Given the description of an element on the screen output the (x, y) to click on. 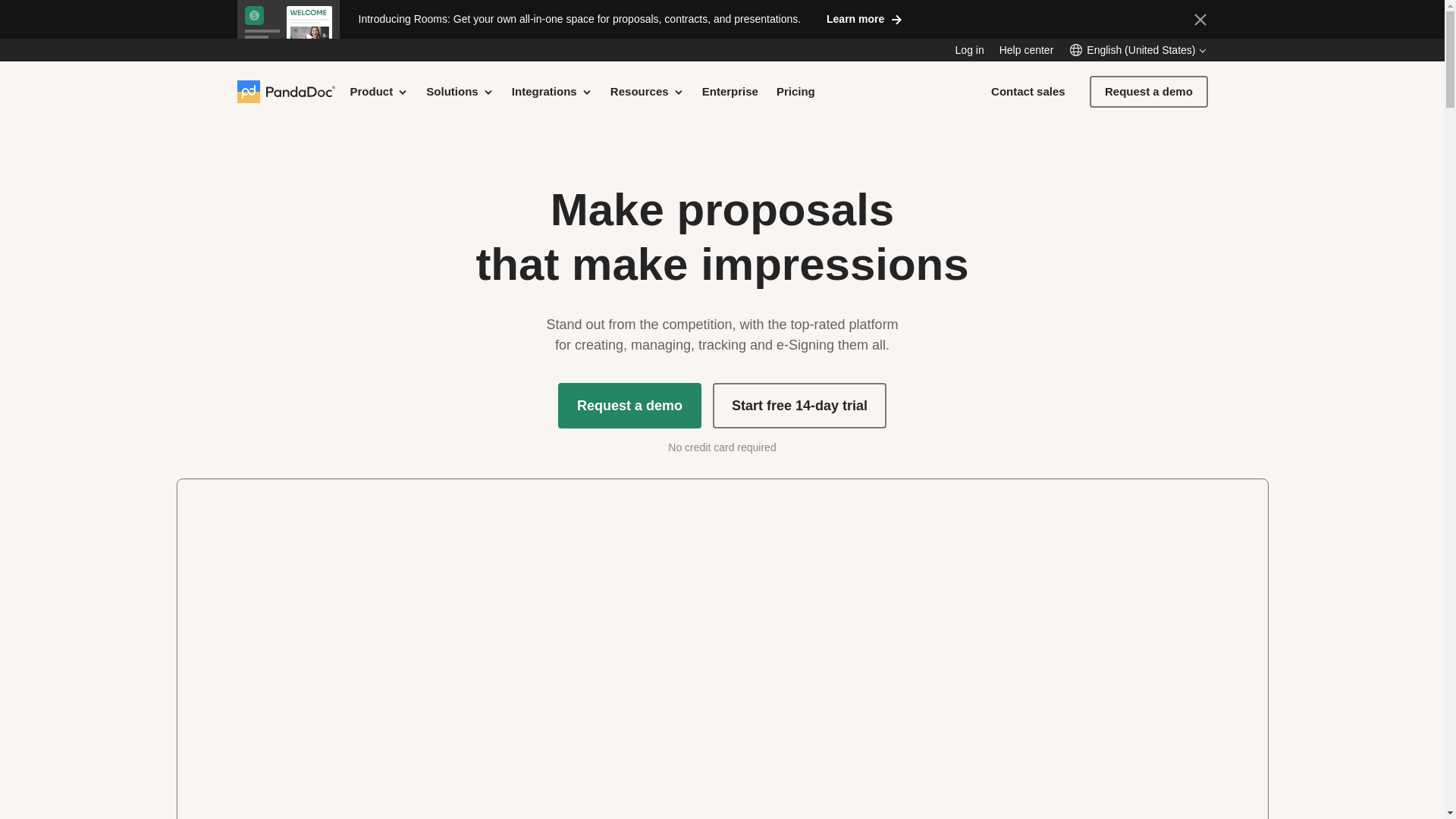
Learn more (864, 18)
Log in (969, 50)
Help center (1026, 50)
Product (379, 91)
Solutions (459, 91)
